Given the description of an element on the screen output the (x, y) to click on. 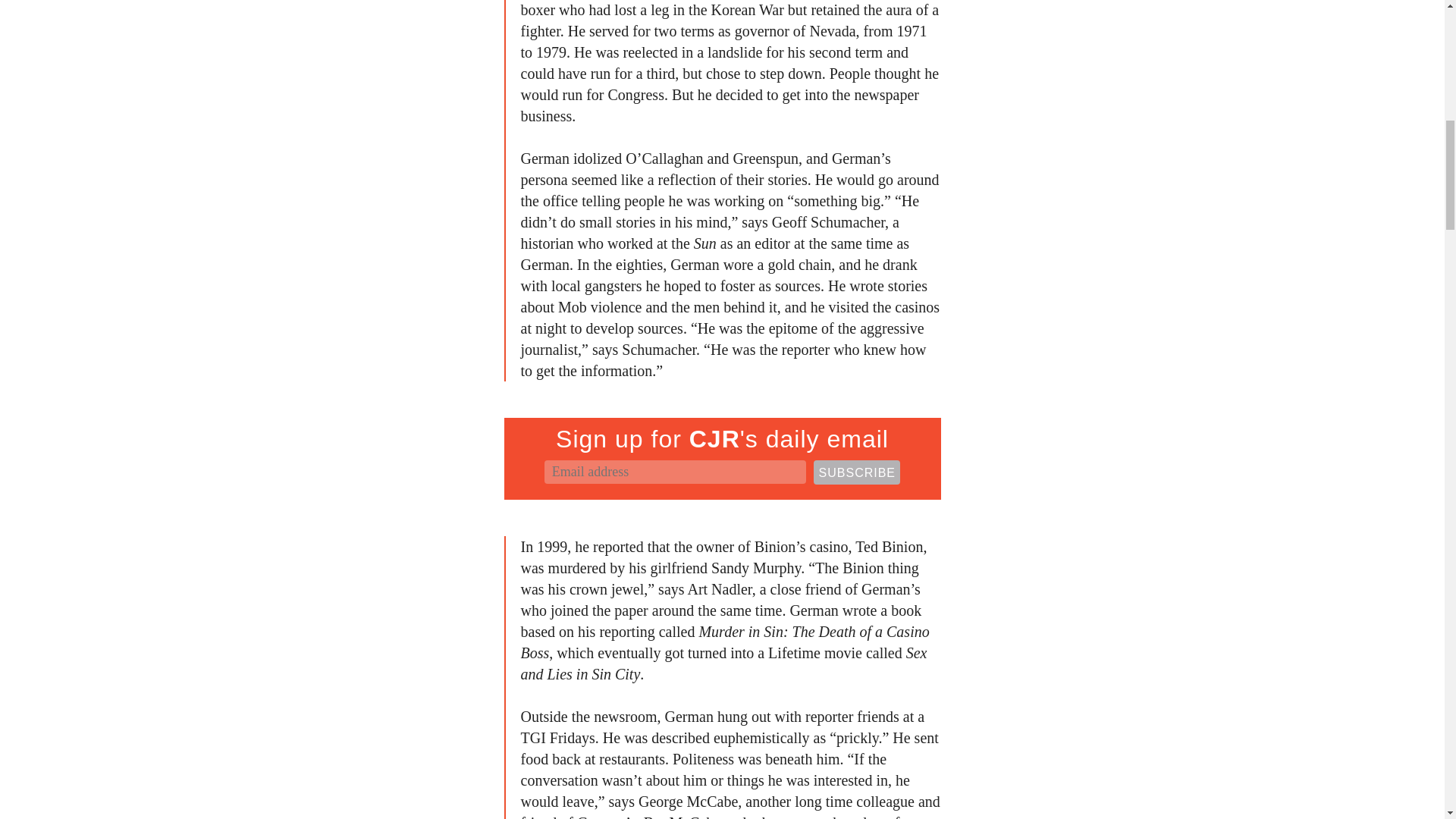
SUBSCRIBE (856, 472)
SUBSCRIBE (856, 472)
